Given the description of an element on the screen output the (x, y) to click on. 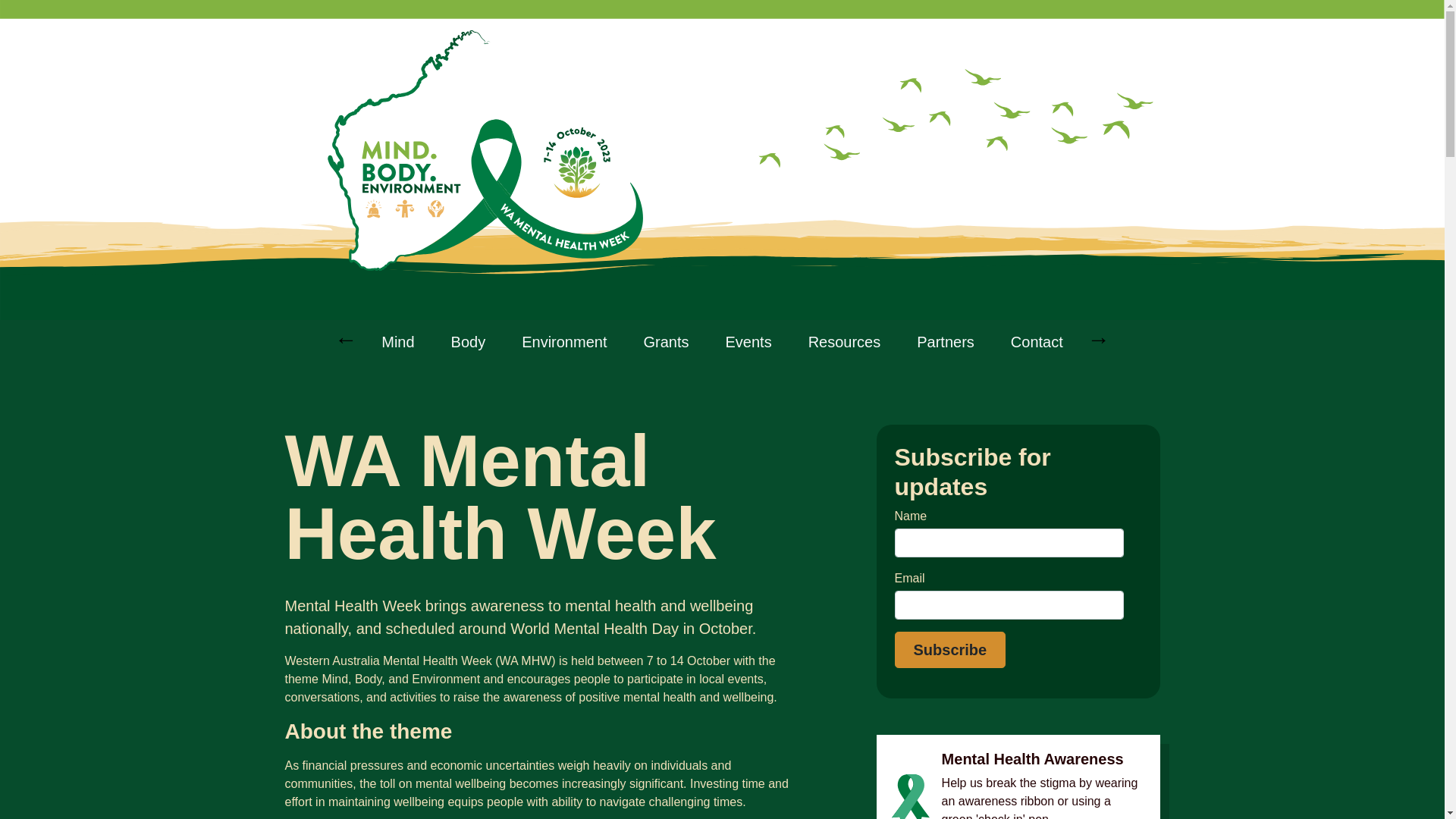
Mind Element type: text (397, 341)
Resources Element type: text (844, 341)
Body Element type: text (468, 341)
Grants Element type: text (665, 341)
Environment Element type: text (563, 341)
Events Element type: text (747, 341)
Contact Element type: text (1036, 341)
Subscribe Element type: text (950, 649)
Partners Element type: text (945, 341)
